Given the description of an element on the screen output the (x, y) to click on. 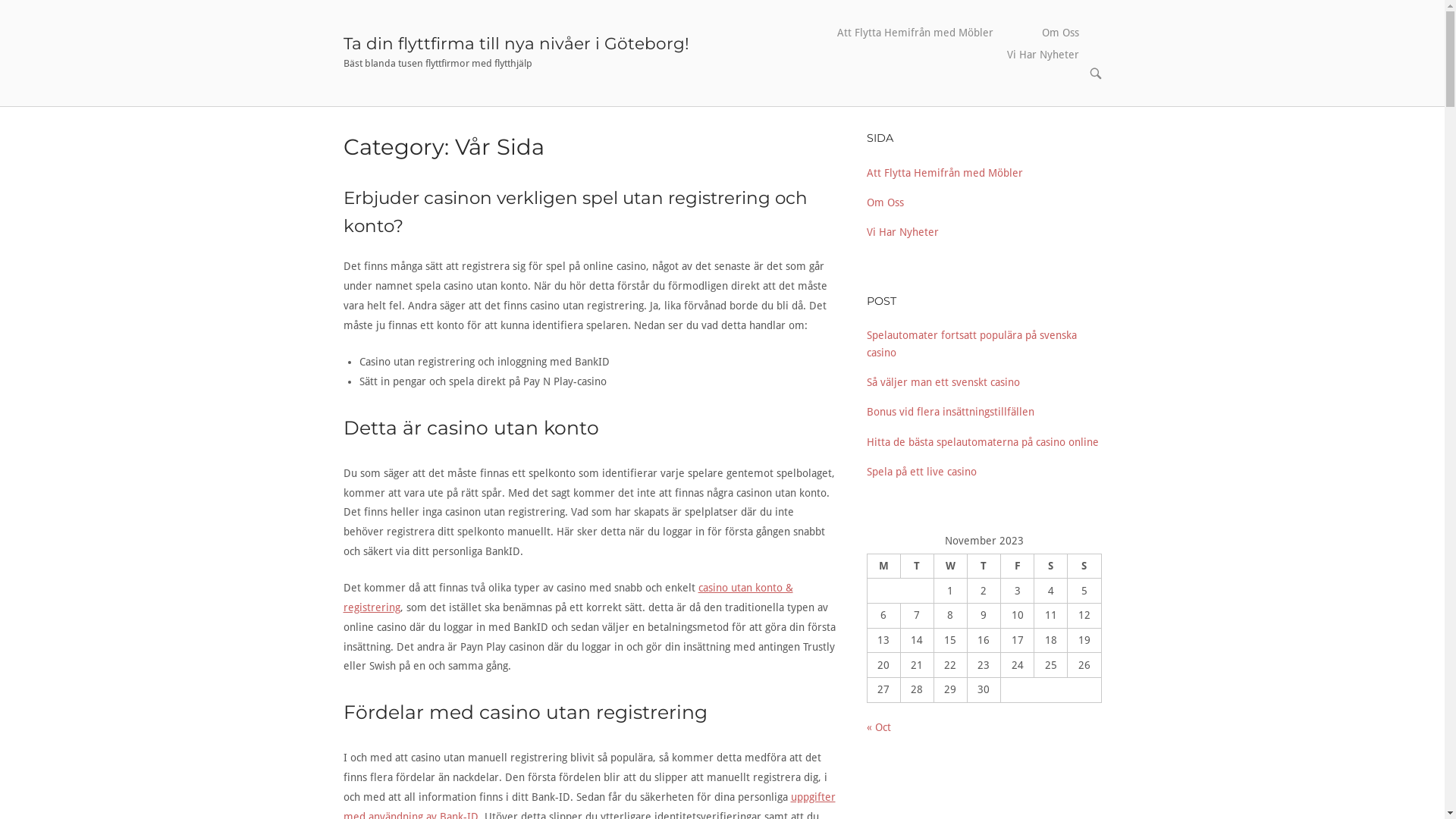
Erbjuder casinon verkligen spel utan registrering och konto? Element type: text (574, 211)
OPEN SEARCH BAR Element type: text (1094, 74)
Om Oss Element type: text (1060, 33)
casino utan konto & registrering Element type: text (567, 597)
Om Oss Element type: text (884, 202)
Vi Har Nyheter Element type: text (1042, 55)
Vi Har Nyheter Element type: text (902, 231)
